Given the description of an element on the screen output the (x, y) to click on. 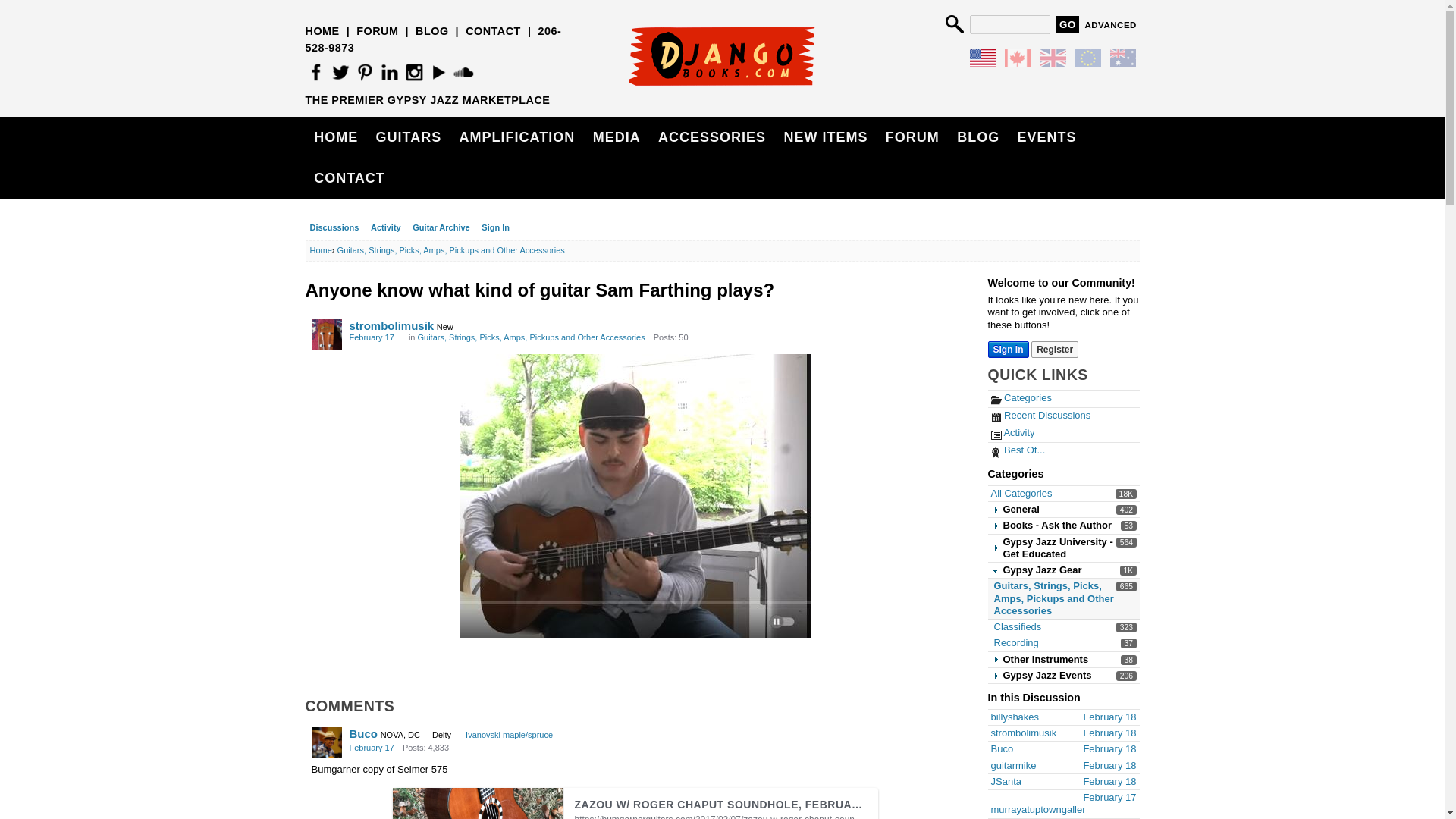
Register (1054, 349)
Go (1067, 24)
402 discussions (1016, 626)
Sign In (1125, 510)
Sign In (1007, 349)
18,004 discussions (495, 227)
Activity (1126, 493)
Discussions (1011, 432)
564 discussions (333, 227)
Home (1125, 542)
Categories (319, 249)
Activity (1020, 397)
